Given the description of an element on the screen output the (x, y) to click on. 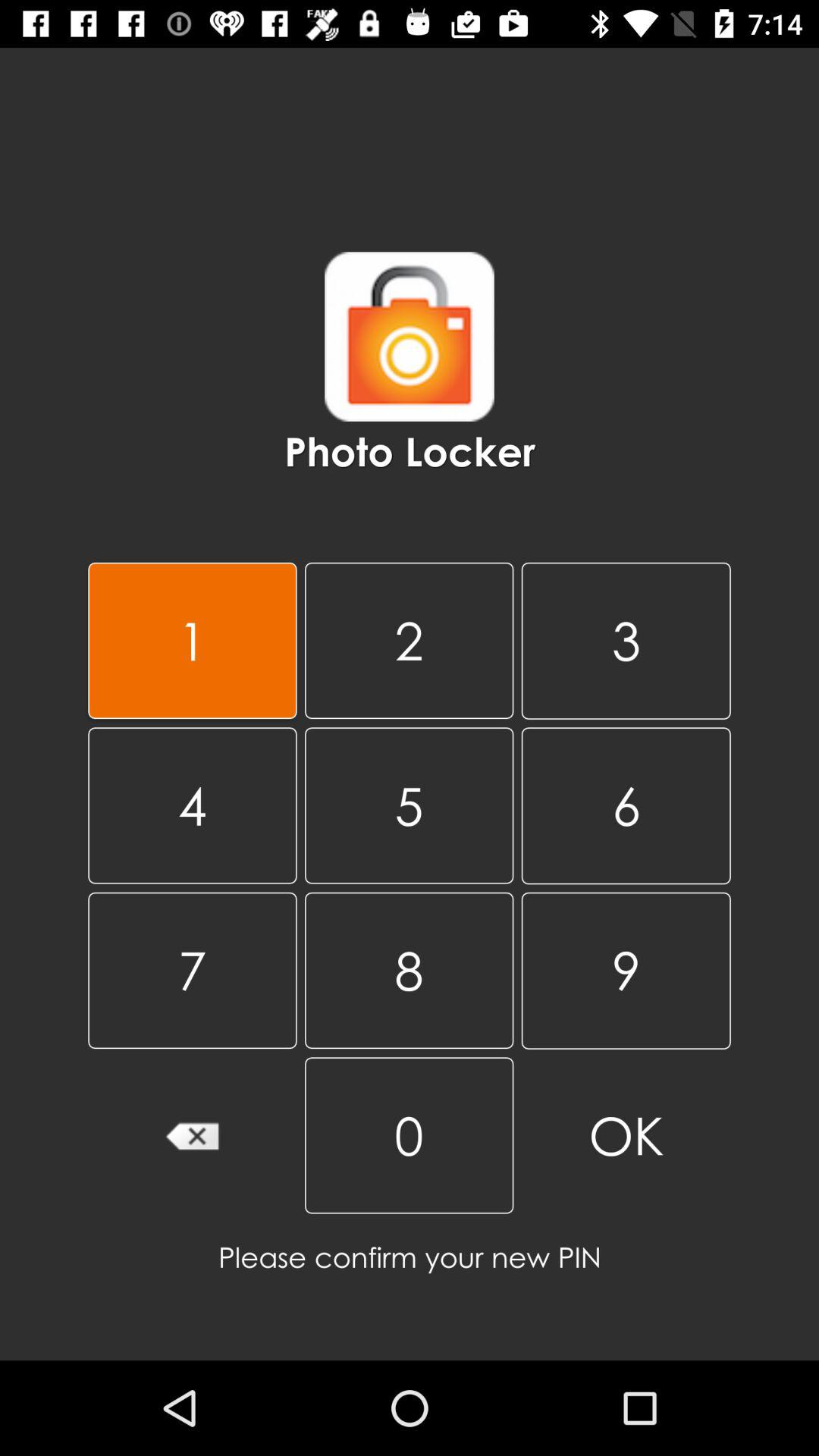
launch the icon below the 9 item (625, 1135)
